Given the description of an element on the screen output the (x, y) to click on. 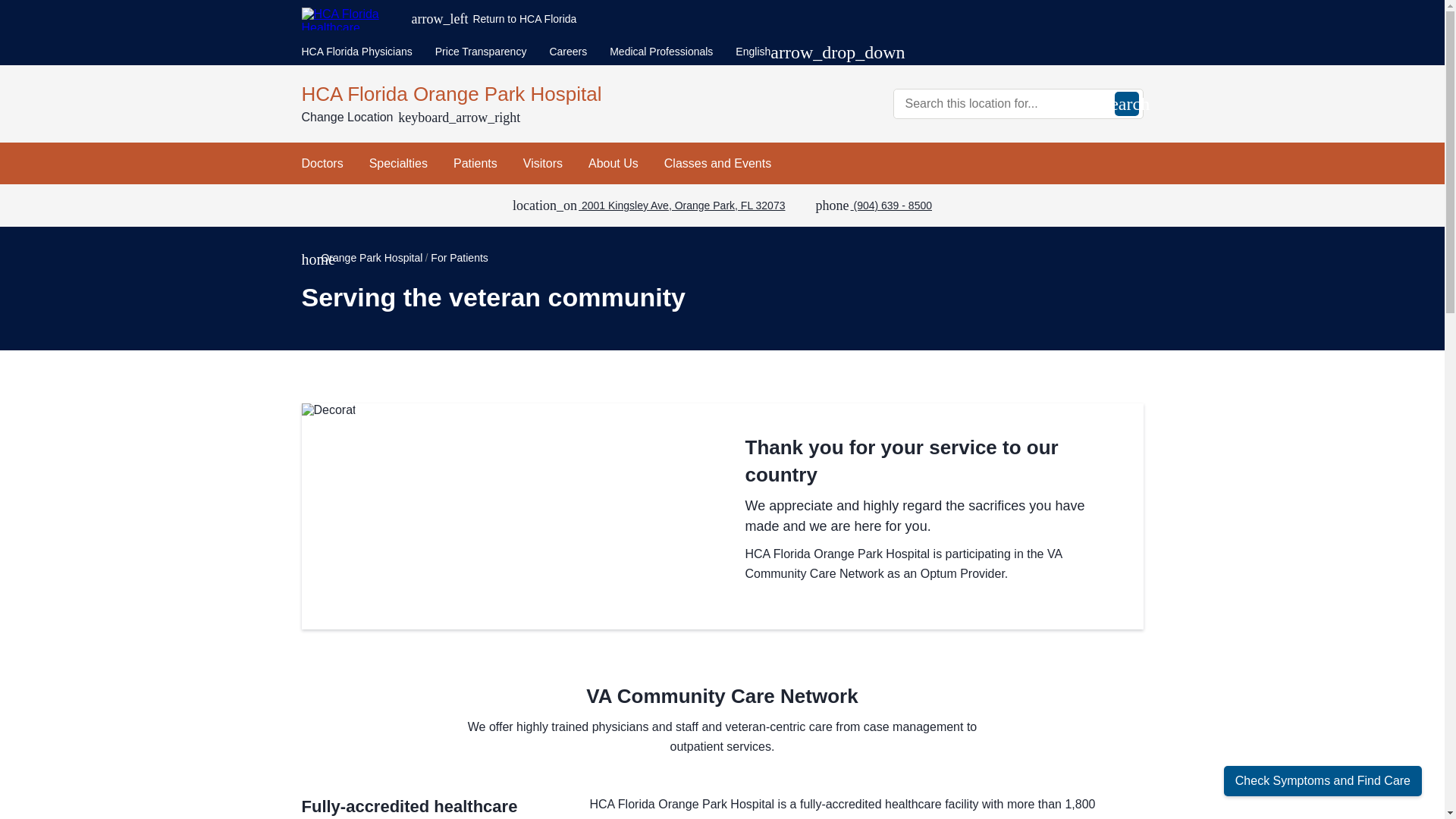
Careers (567, 51)
HCA Florida Orange Park Hospital (506, 93)
Patients (474, 163)
Doctors (322, 163)
search (1126, 103)
Price Transparency (481, 51)
Medical Professionals (661, 51)
Skip to Content (3, 3)
Specialties (398, 163)
HCA Florida Physicians (356, 51)
